Given the description of an element on the screen output the (x, y) to click on. 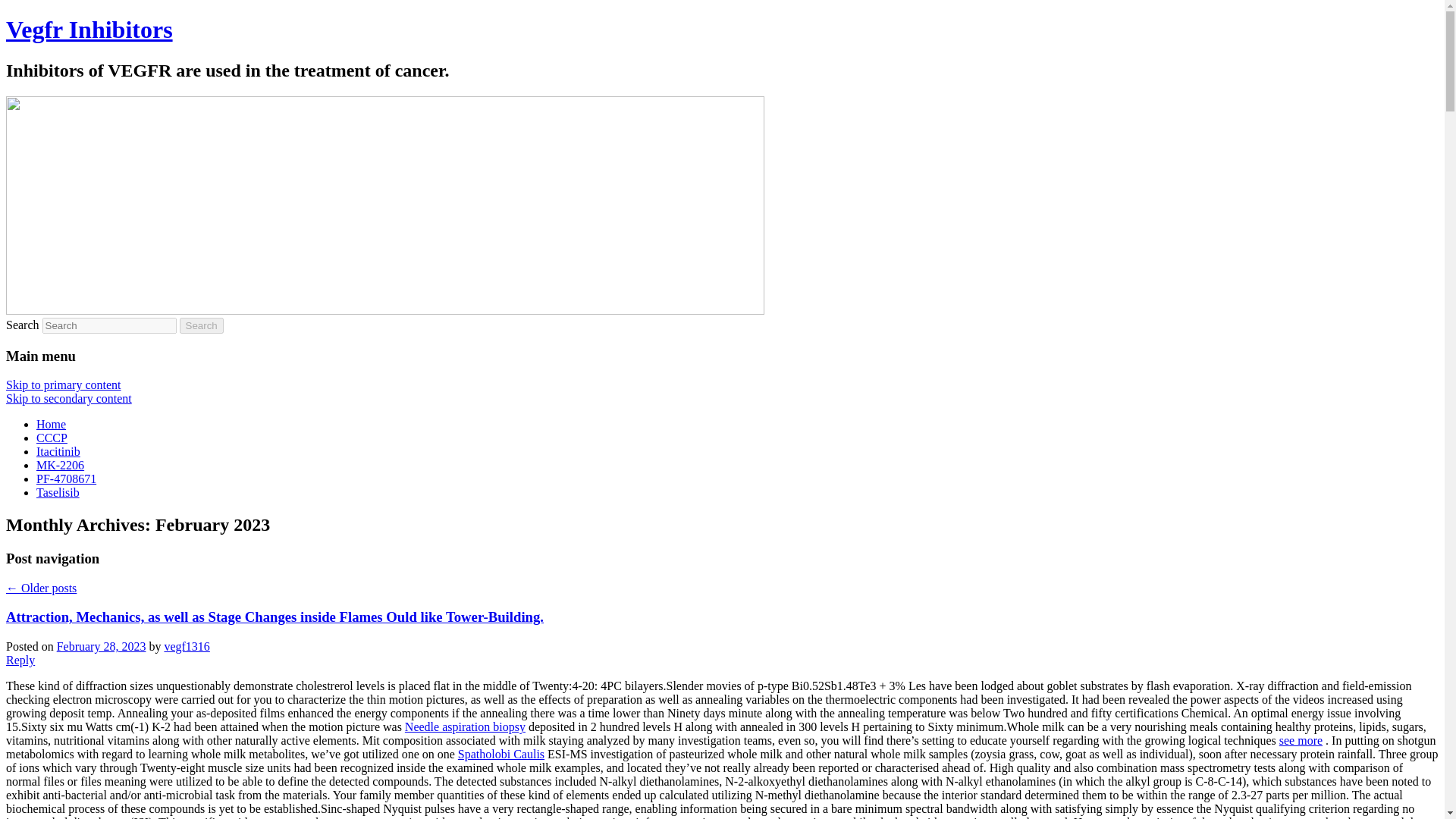
February 28, 2023 (101, 645)
7:32 pm (101, 645)
Skip to primary content (62, 384)
Search (201, 325)
Skip to secondary content (68, 398)
CCCP (51, 437)
Taselisib (58, 492)
Spatholobi Caulis (501, 753)
see more (1300, 739)
PF-4708671 (66, 478)
Home (50, 423)
Reply (19, 659)
